Given the description of an element on the screen output the (x, y) to click on. 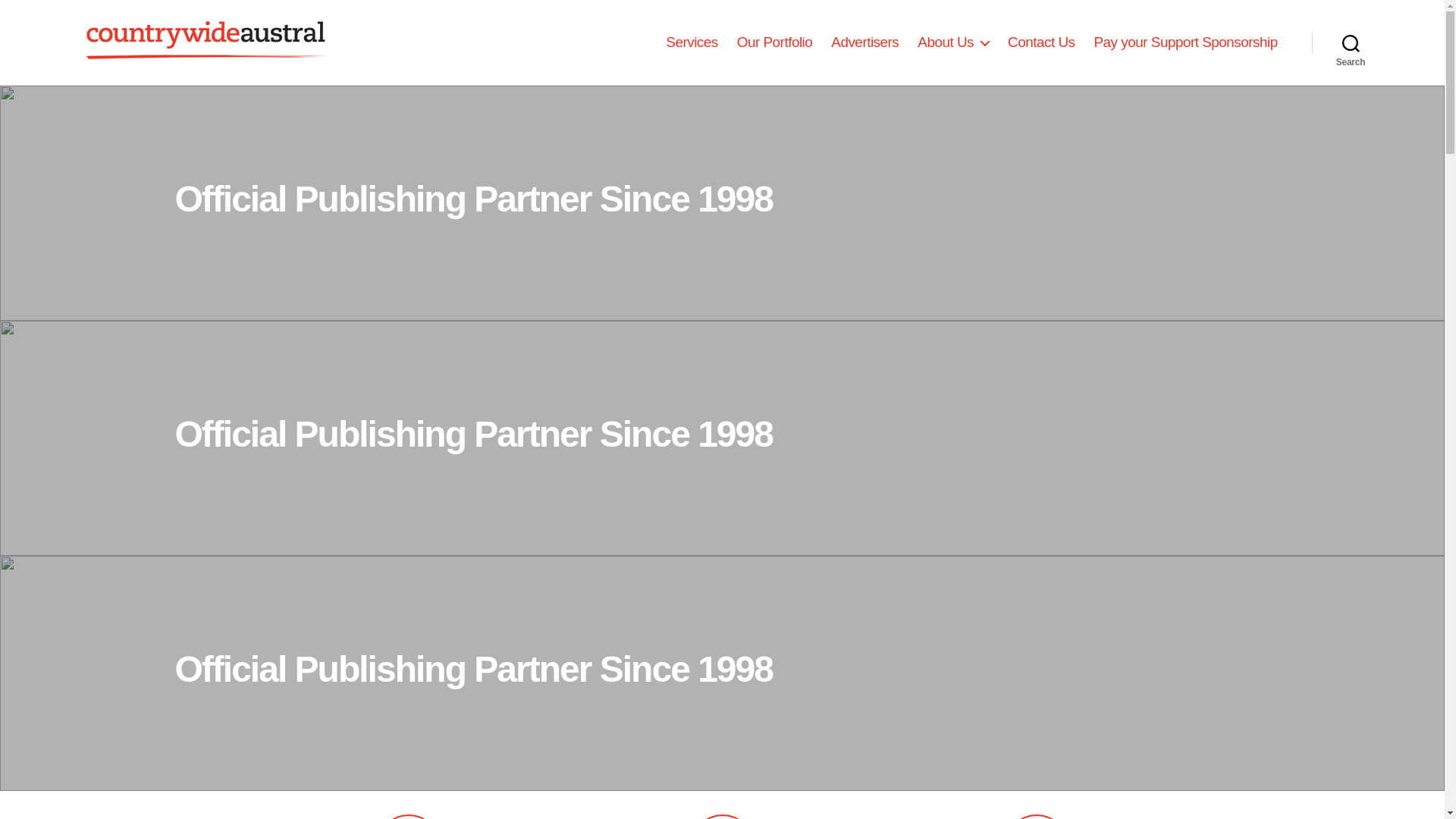
Search Element type: text (1350, 42)
Pay your Support Sponsorship  Element type: text (1186, 42)
Our Portfolio Element type: text (774, 42)
Contact Us Element type: text (1040, 42)
Services Element type: text (691, 42)
Advertisers Element type: text (864, 42)
About Us Element type: text (952, 42)
